Given the description of an element on the screen output the (x, y) to click on. 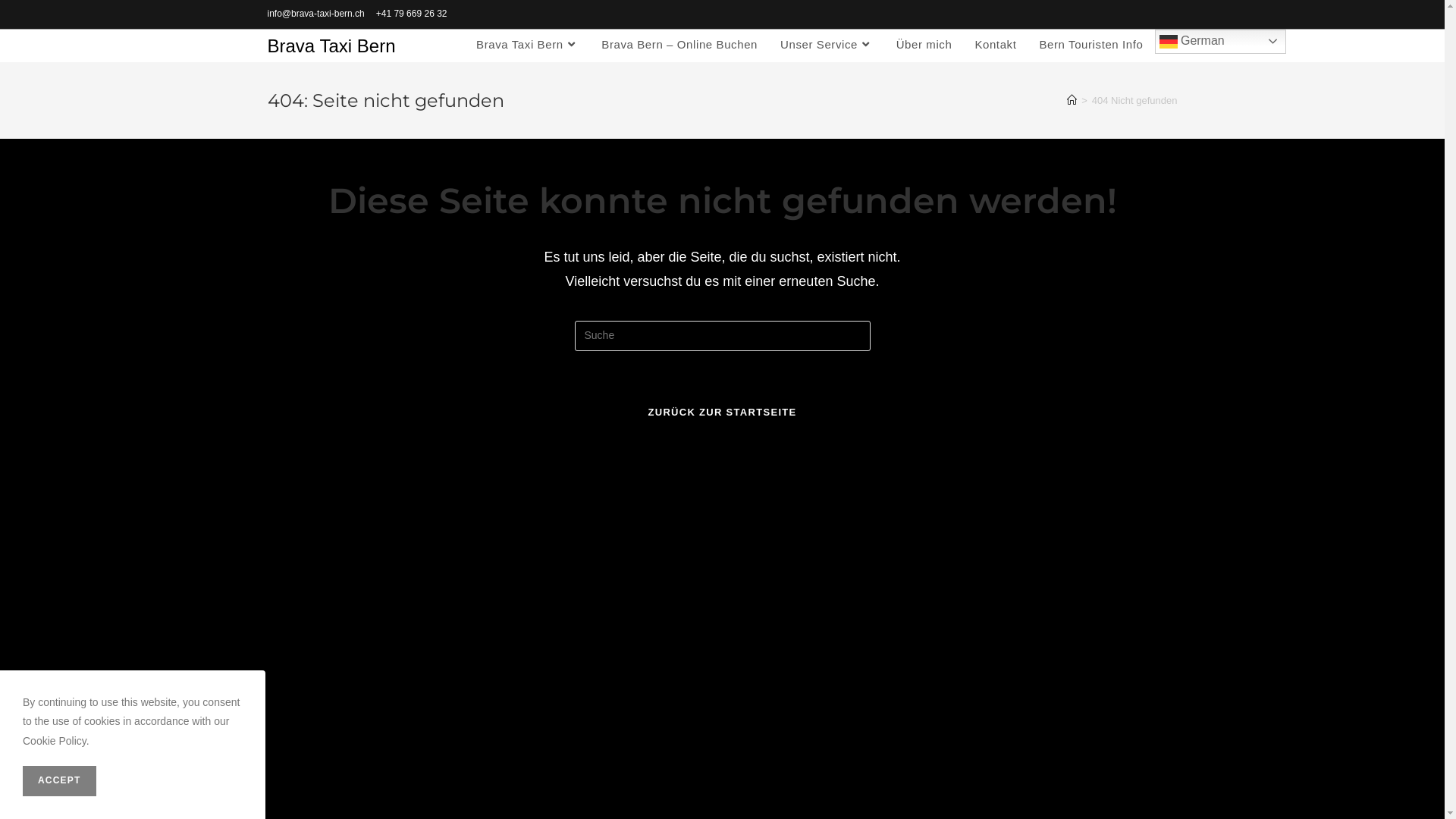
German Element type: text (1219, 41)
Unser Service Element type: text (826, 44)
Brava Taxi Bern Element type: text (330, 45)
+41 79 669 26 32 Element type: text (411, 14)
Bern Touristen Info Element type: text (1090, 44)
ACCEPT Element type: text (59, 780)
Kontakt Element type: text (995, 44)
Brava Taxi Bern Element type: text (526, 44)
Toggle website search Element type: text (1171, 44)
info@brava-taxi-bern.ch Element type: text (315, 14)
